Given the description of an element on the screen output the (x, y) to click on. 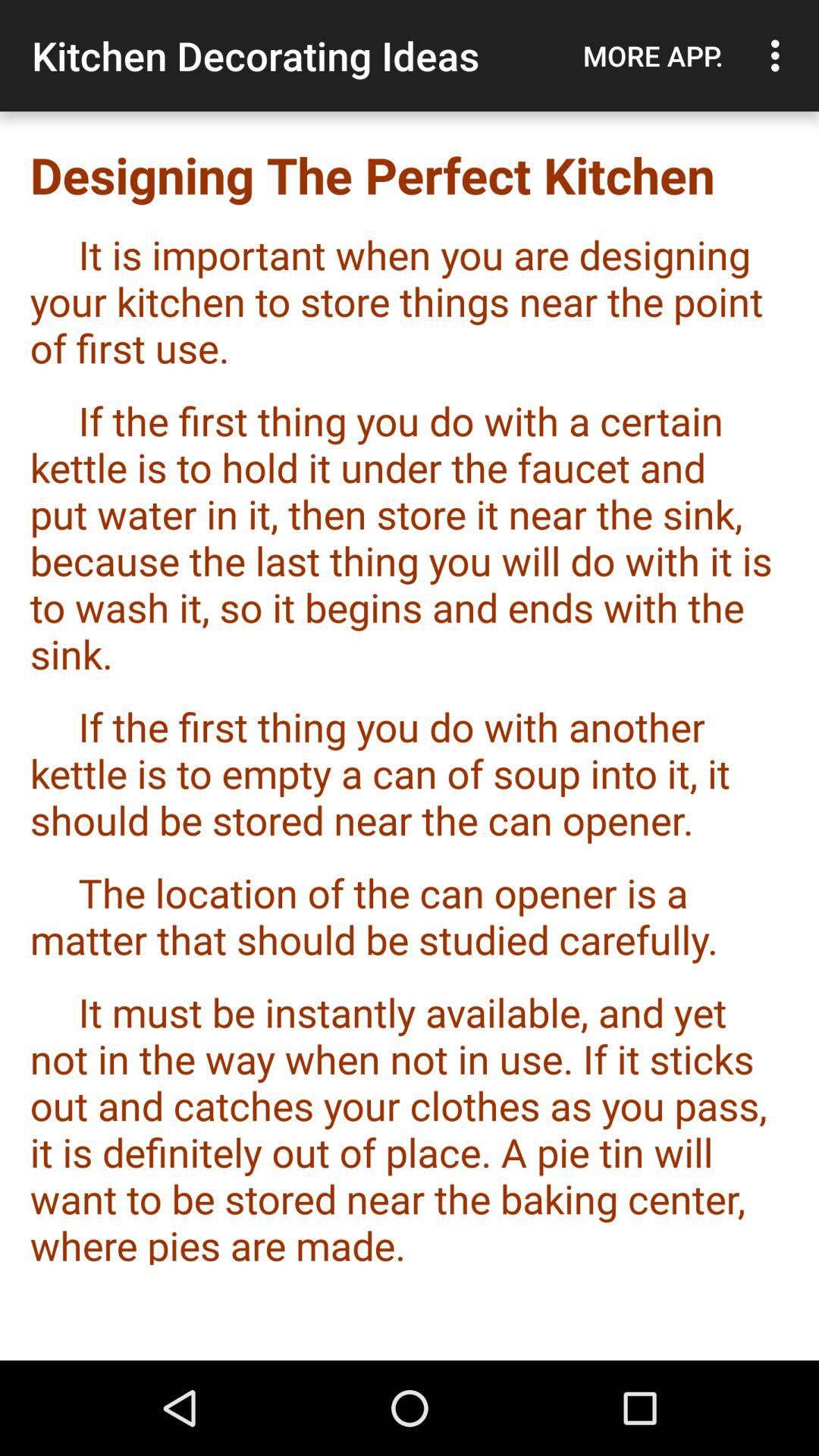
launch the more app. icon (653, 55)
